Given the description of an element on the screen output the (x, y) to click on. 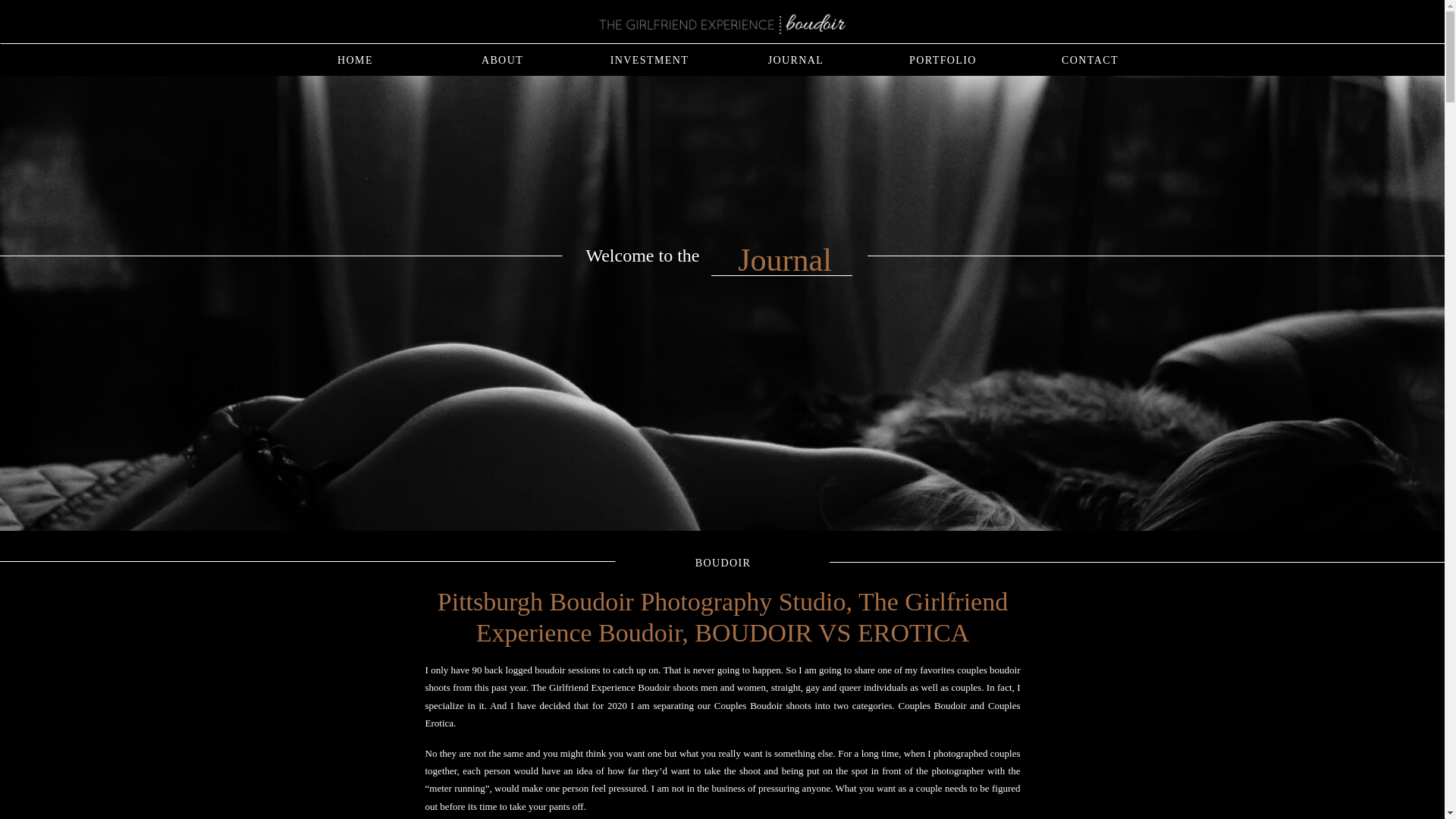
CONTACT (1089, 57)
ABOUT (503, 57)
BOUDOIR (723, 562)
HOME (355, 57)
INVESTMENT (650, 57)
JOURNAL (795, 57)
PORTFOLIO (942, 57)
